Given the description of an element on the screen output the (x, y) to click on. 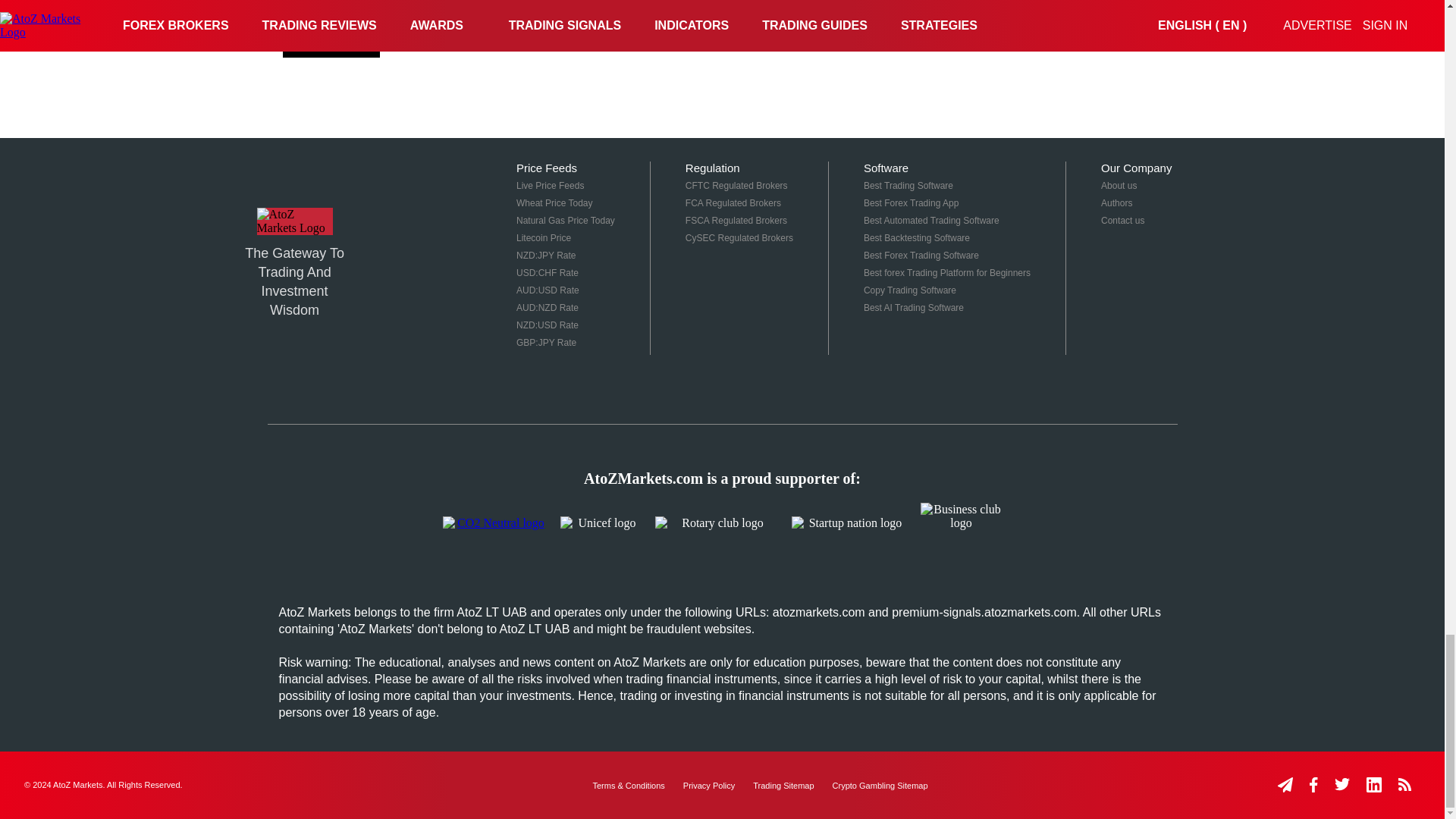
yes (287, 10)
Post Comment (330, 44)
